Given the description of an element on the screen output the (x, y) to click on. 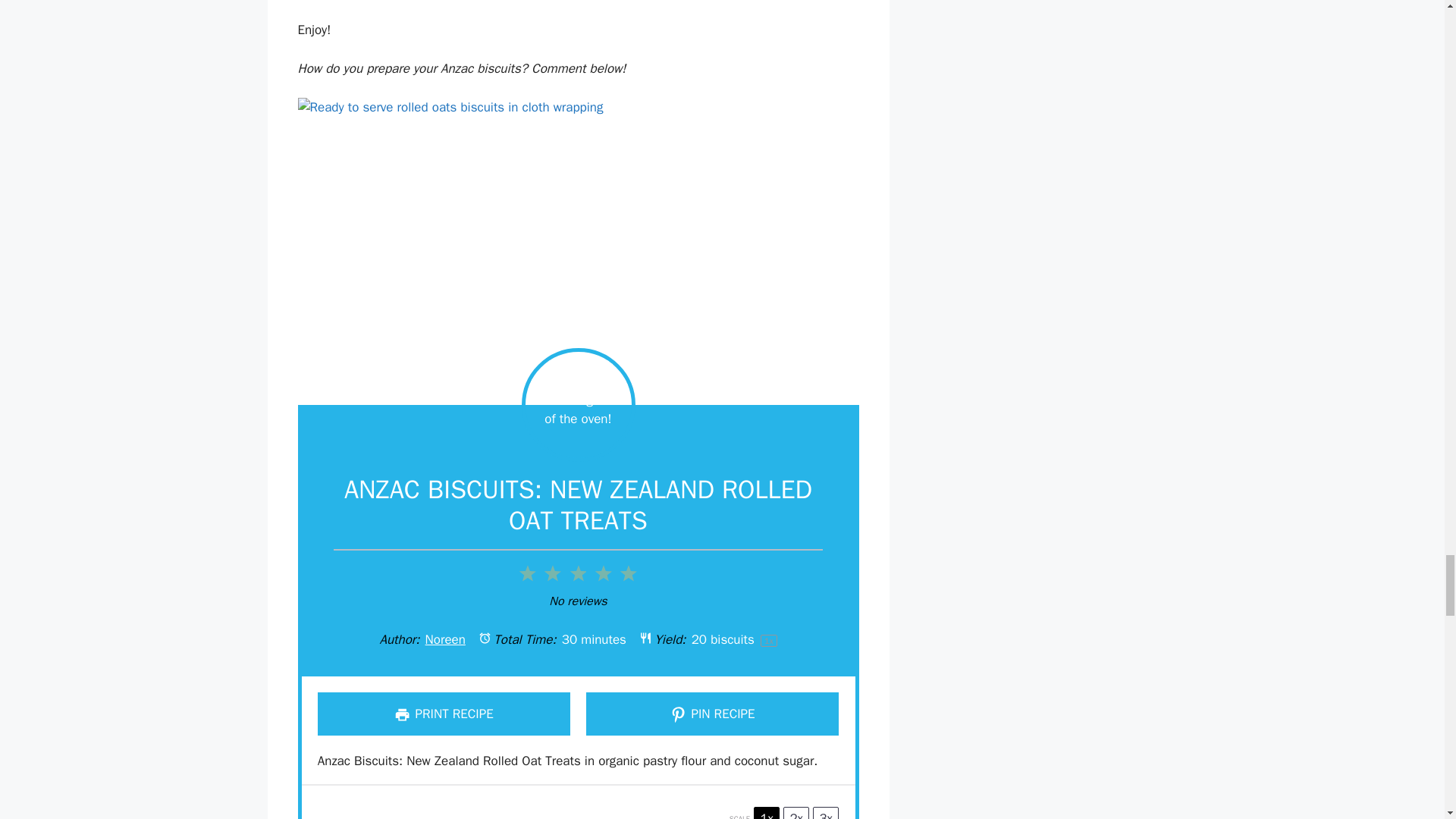
PRINT RECIPE (443, 713)
PIN RECIPE (712, 713)
2x (796, 812)
3x (825, 812)
Noreen (445, 639)
1x (766, 812)
